Given the description of an element on the screen output the (x, y) to click on. 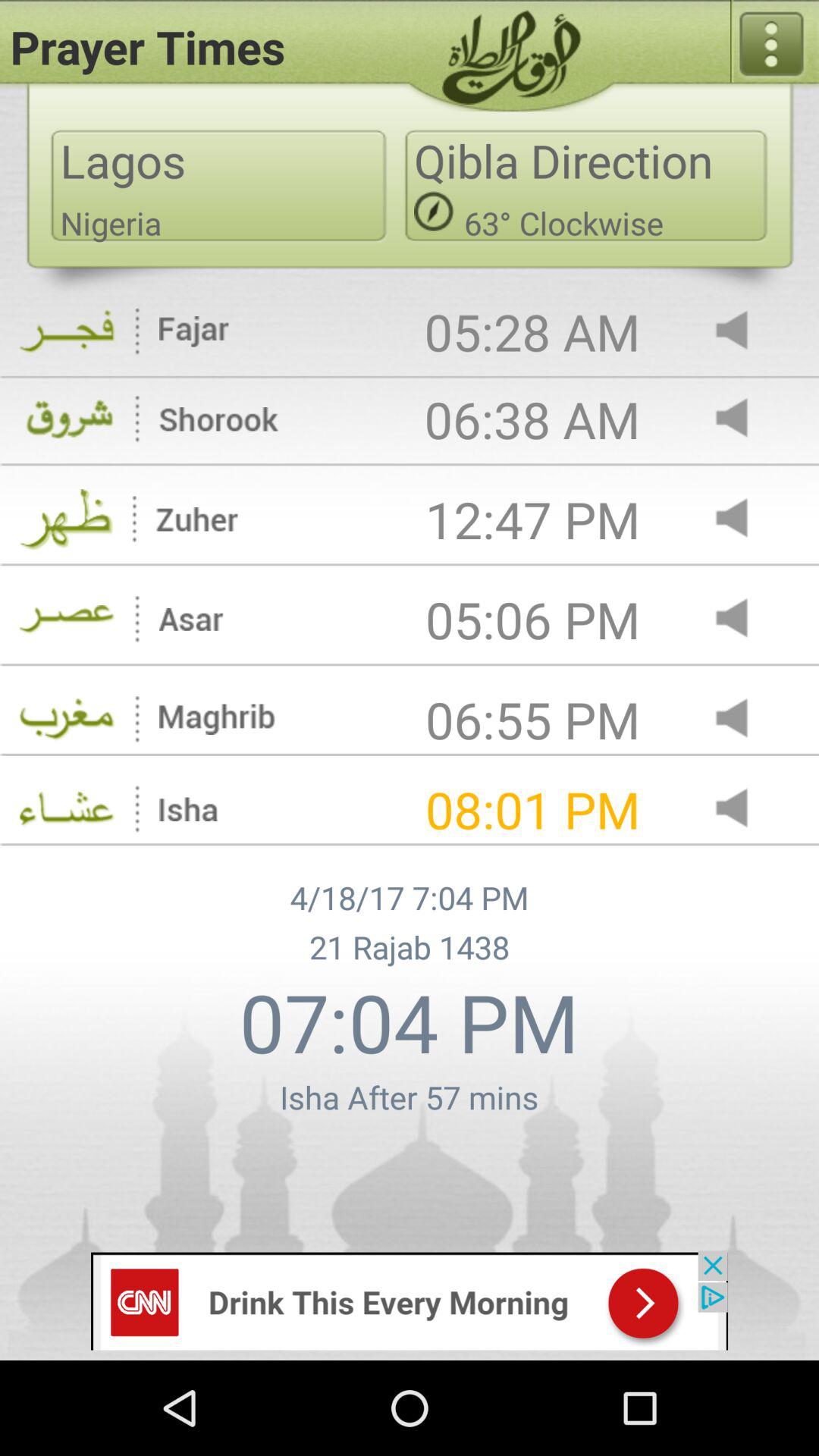
hear audio (744, 419)
